Given the description of an element on the screen output the (x, y) to click on. 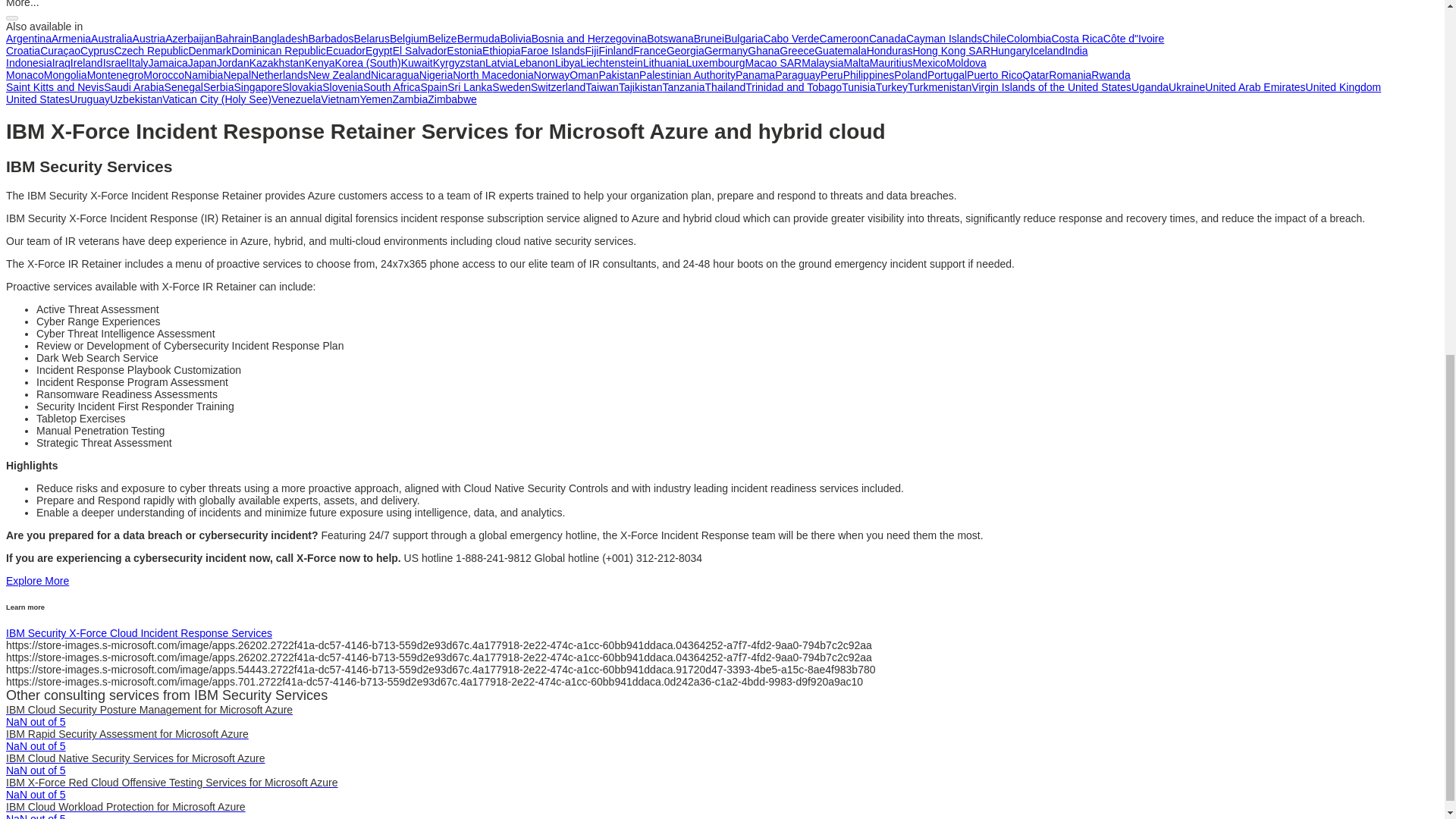
IBM Rapid Security Assessment for Microsoft Azure (126, 734)
Argentina (27, 38)
IBM Cloud Security Posture Management for Microsoft Azure (148, 709)
Australia (111, 38)
Armenia (70, 38)
IBM Cloud Workload Protection for Microsoft Azure (125, 806)
Austria (148, 38)
IBM Cloud Native Security Services for Microsoft Azure (134, 758)
